Given the description of an element on the screen output the (x, y) to click on. 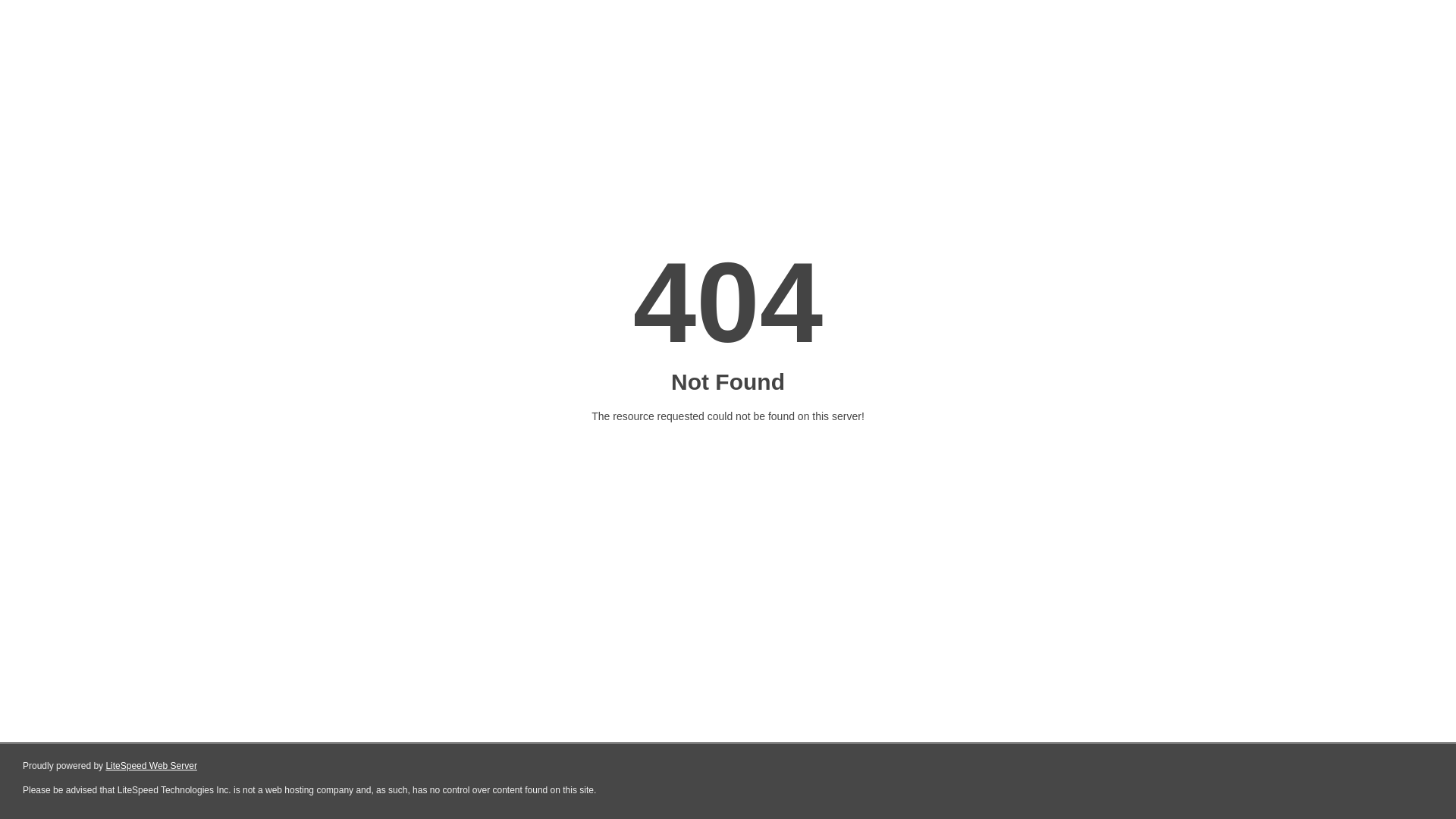
LiteSpeed Web Server Element type: text (151, 765)
